Given the description of an element on the screen output the (x, y) to click on. 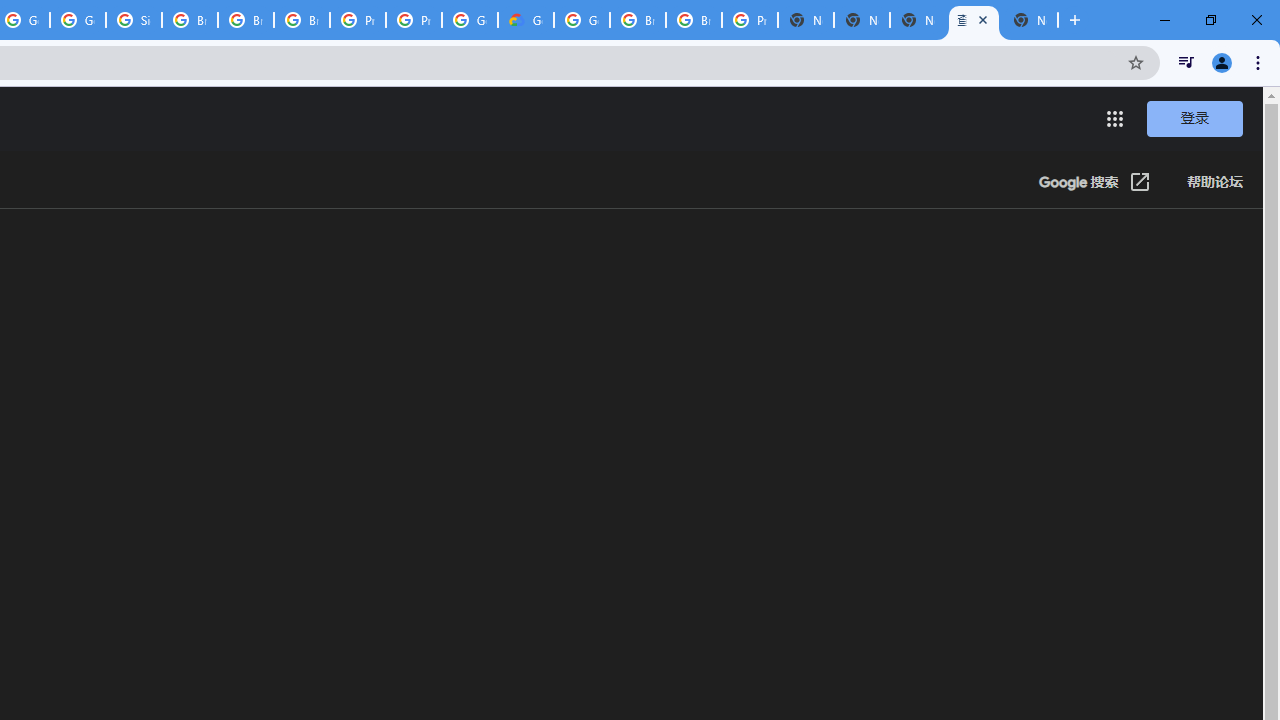
Chrome (1260, 62)
Browse Chrome as a guest - Computer - Google Chrome Help (189, 20)
Control your music, videos, and more (1185, 62)
Google Cloud Estimate Summary (525, 20)
New Tab (1075, 20)
You (1221, 62)
Sign in - Google Accounts (134, 20)
Browse Chrome as a guest - Computer - Google Chrome Help (693, 20)
Browse Chrome as a guest - Computer - Google Chrome Help (301, 20)
New Tab (806, 20)
